Given the description of an element on the screen output the (x, y) to click on. 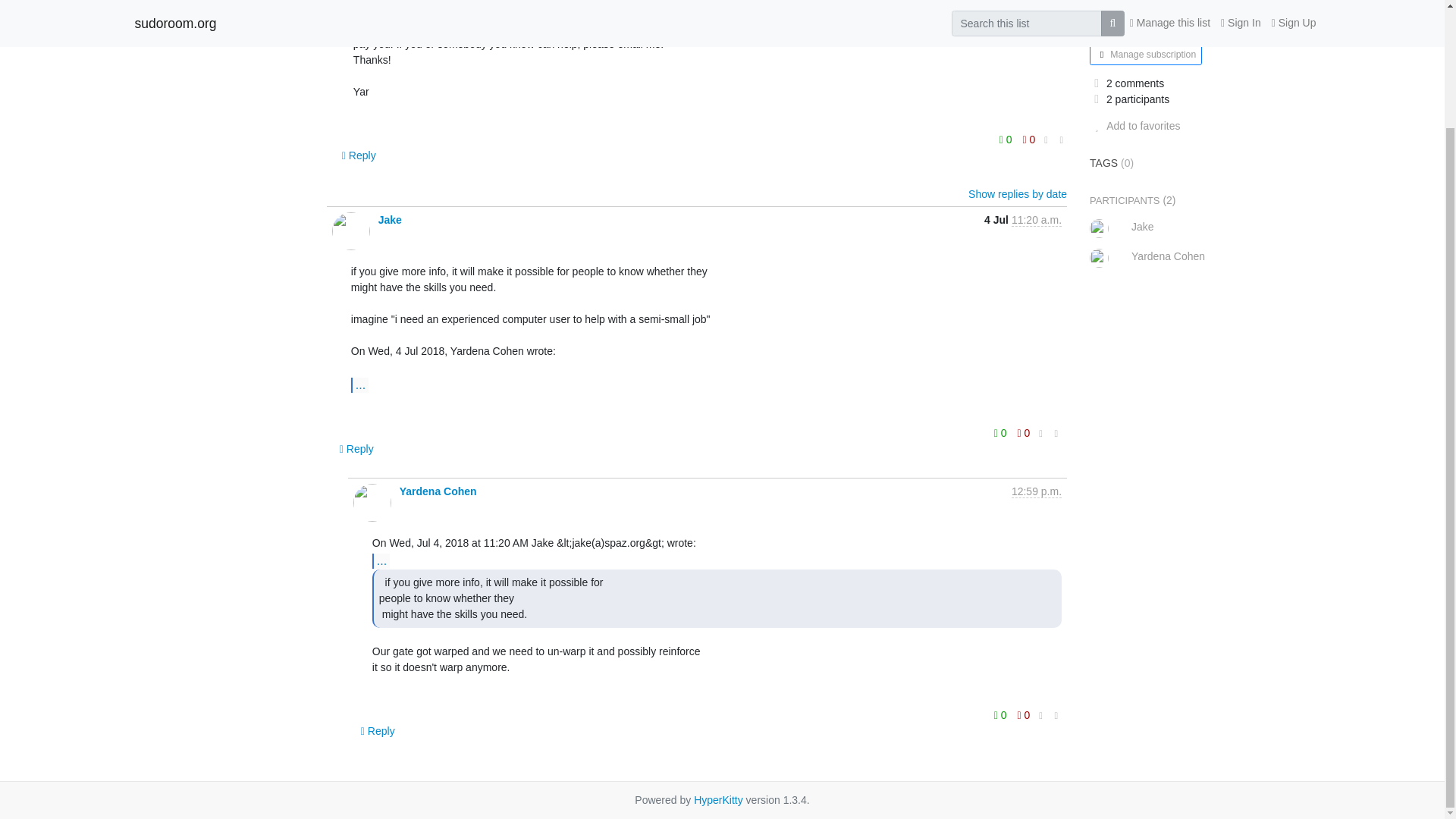
You must be logged-in to vote. (1023, 433)
Sign in to reply online (356, 448)
Sign in to reply online (359, 154)
You must be logged-in to vote. (1001, 433)
You must be logged-in to vote. (1007, 139)
This thread in gzipped mbox format (213, 18)
You must be logged-in to vote. (1029, 139)
Sender's time: July 4, 2018, 11:20 a.m. (1036, 219)
See the profile for Yardena Cohen (437, 491)
See the profile for Jake (389, 219)
